Given the description of an element on the screen output the (x, y) to click on. 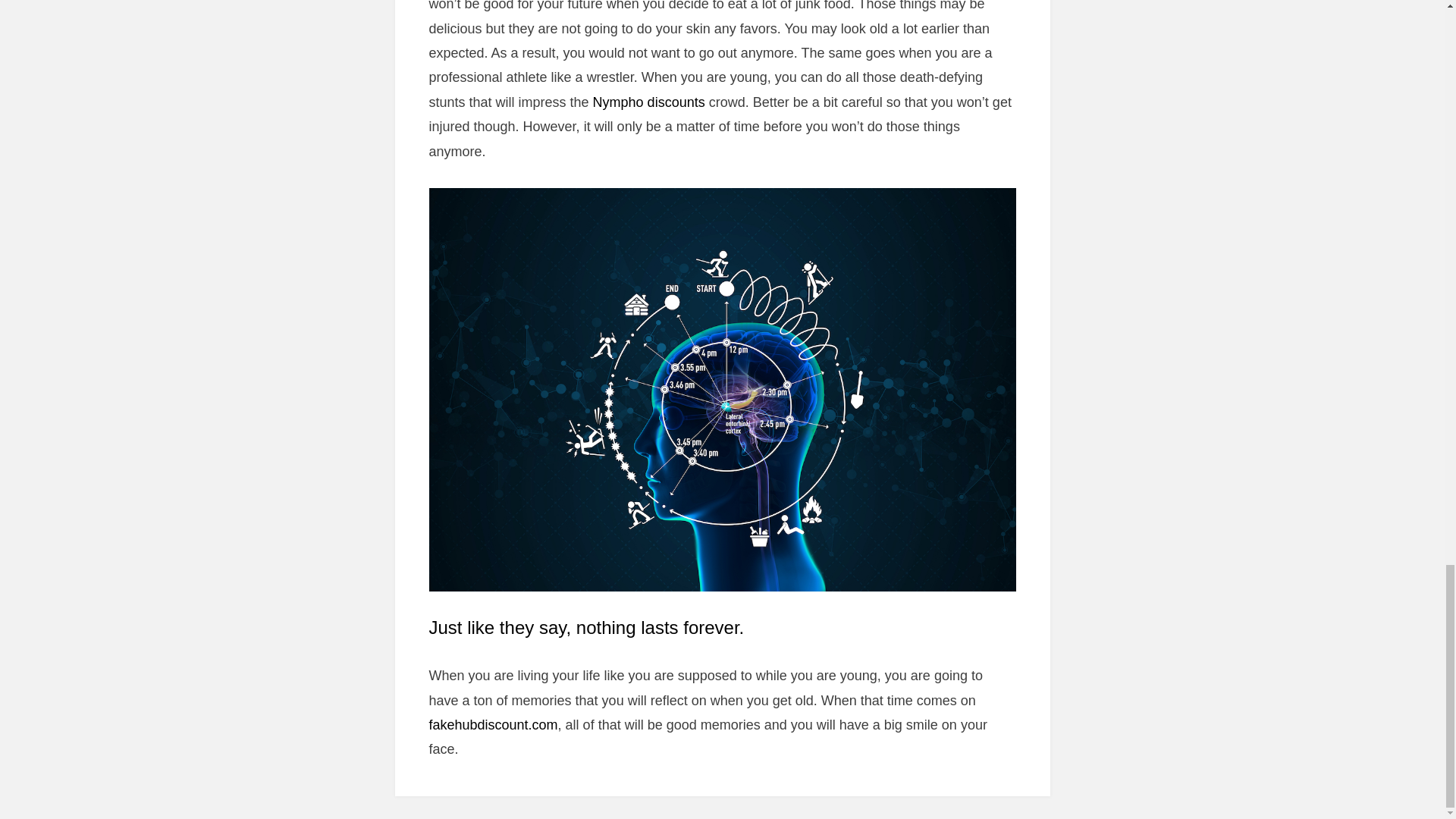
Nympho discounts (648, 102)
fakehubdiscount.com (493, 724)
